Given the description of an element on the screen output the (x, y) to click on. 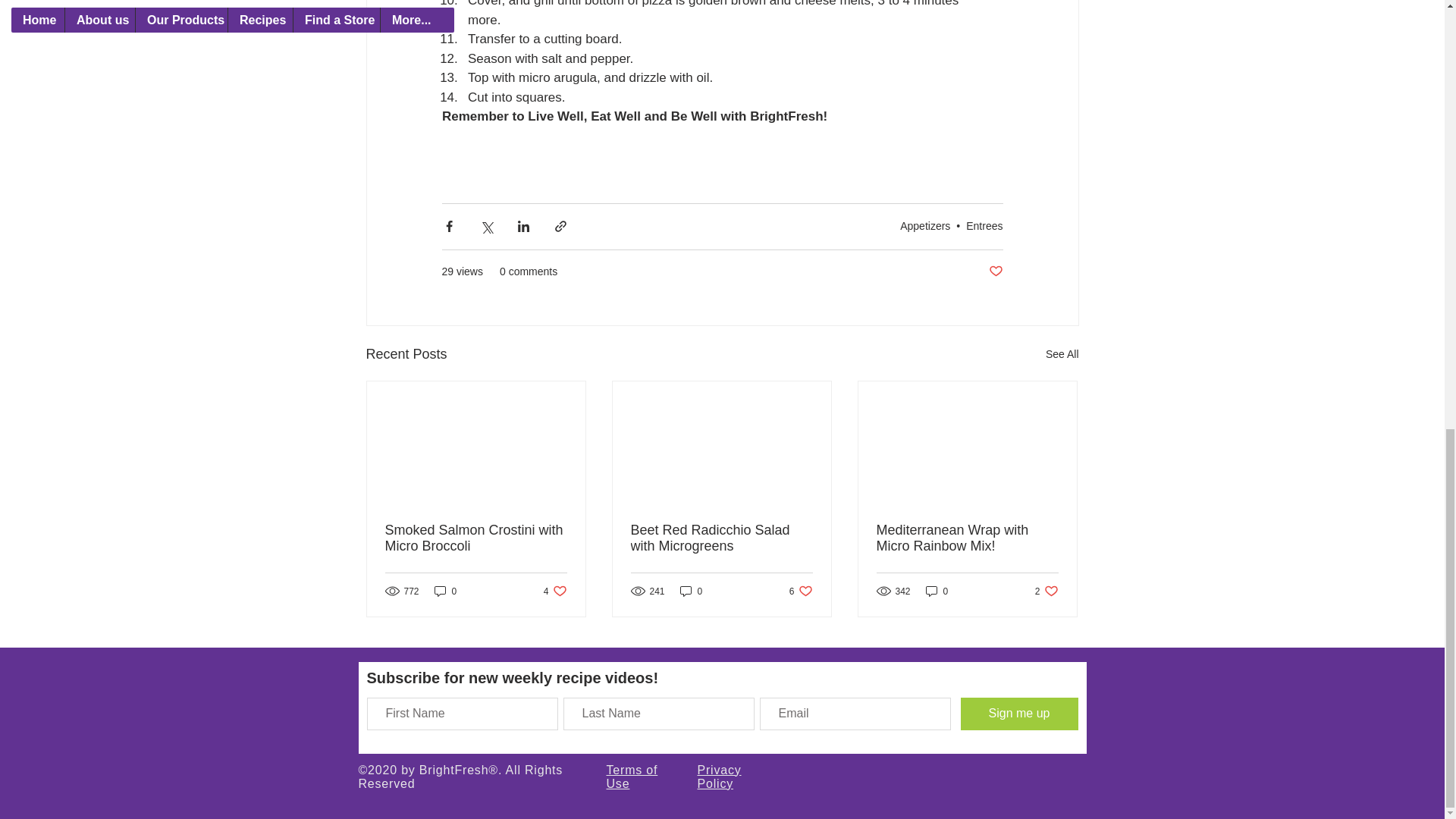
0 (937, 590)
0 (1046, 590)
Beet Red Radicchio Salad with Microgreens (555, 590)
Appetizers (691, 590)
Terms of Use (721, 537)
Mediterranean Wrap with Micro Rainbow Mix! (924, 225)
Sign me up (632, 775)
0 (800, 590)
See All (967, 537)
Post not marked as liked (1018, 713)
Entrees (445, 590)
Smoked Salmon Crostini with Micro Broccoli (1061, 353)
